Given the description of an element on the screen output the (x, y) to click on. 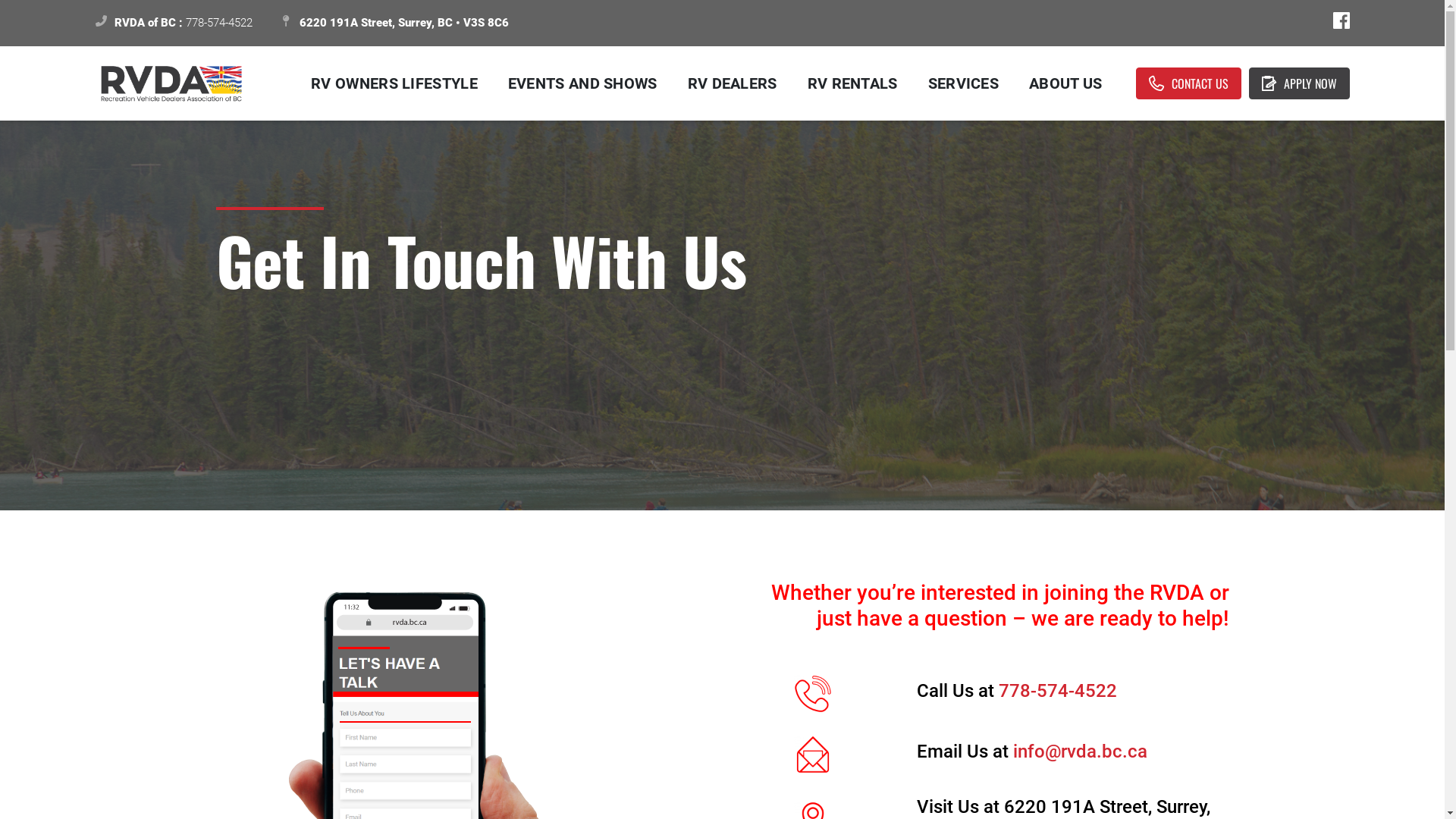
ABOUT US Element type: text (1065, 83)
778-574-4522 Element type: text (1057, 690)
RV DEALERS Element type: text (732, 83)
info@rvda.bc.ca Element type: text (1080, 751)
SERVICES Element type: text (963, 83)
RV OWNERS LIFESTYLE Element type: text (393, 83)
RV RENTALS Element type: text (852, 83)
RVDA of BC : 778-574-4522 Element type: text (173, 22)
APPLY NOW Element type: text (1298, 83)
EVENTS AND SHOWS Element type: text (582, 83)
CONTACT US Element type: text (1188, 83)
